Given the description of an element on the screen output the (x, y) to click on. 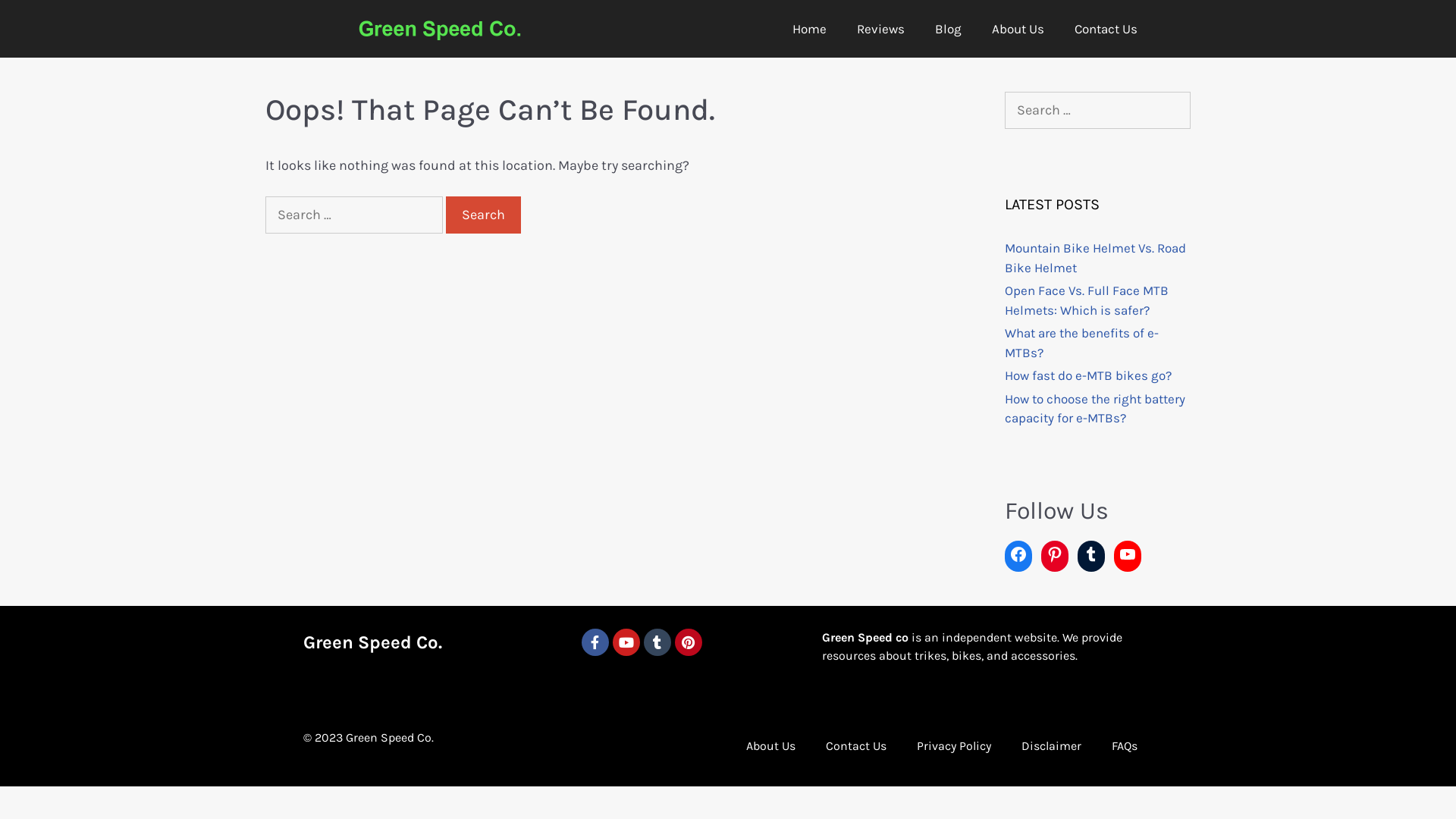
How fast do e-MTB bikes go? Element type: text (1087, 374)
Search Element type: text (37, 18)
Search for: Element type: hover (1097, 109)
How to choose the right battery capacity for e-MTBs? Element type: text (1094, 408)
Open Face Vs. Full Face MTB Helmets: Which is safer? Element type: text (1086, 299)
Search Element type: text (482, 214)
About Us Element type: text (770, 745)
Contact Us Element type: text (855, 745)
Blog Element type: text (947, 28)
FAQs Element type: text (1124, 745)
About Us Element type: text (1017, 28)
Privacy Policy Element type: text (953, 745)
What are the benefits of e-MTBs? Element type: text (1081, 342)
Disclaimer Element type: text (1051, 745)
Untitled-1 Element type: hover (439, 31)
Contact Us Element type: text (1105, 28)
Home Element type: text (809, 28)
Mountain Bike Helmet Vs. Road Bike Helmet Element type: text (1095, 257)
Green Speed Co. Element type: text (372, 641)
Reviews Element type: text (880, 28)
Search for: Element type: hover (353, 214)
